Given the description of an element on the screen output the (x, y) to click on. 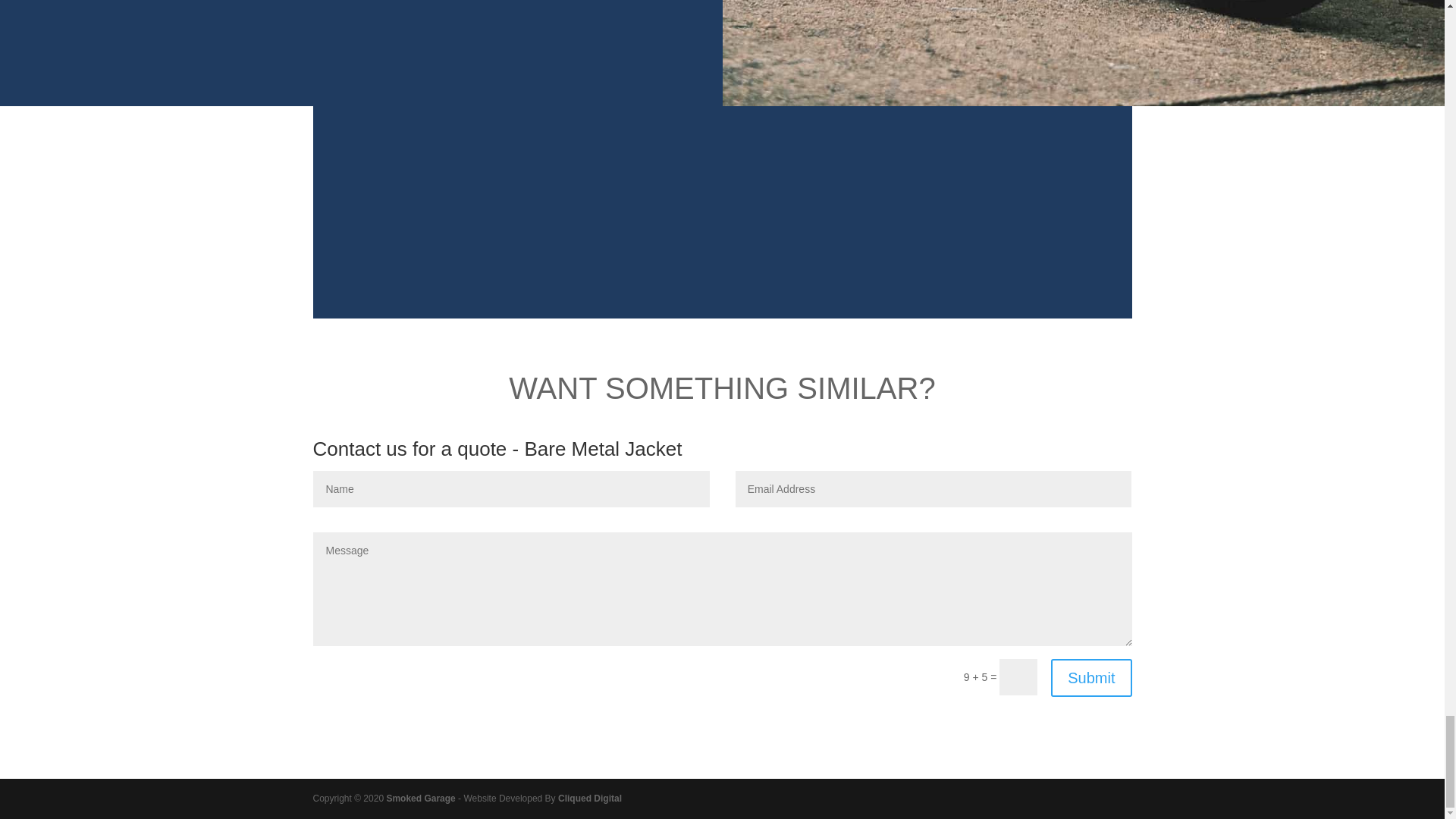
Submit (1091, 677)
Cliqued Digital (589, 798)
Smoked Garage (419, 798)
